Given the description of an element on the screen output the (x, y) to click on. 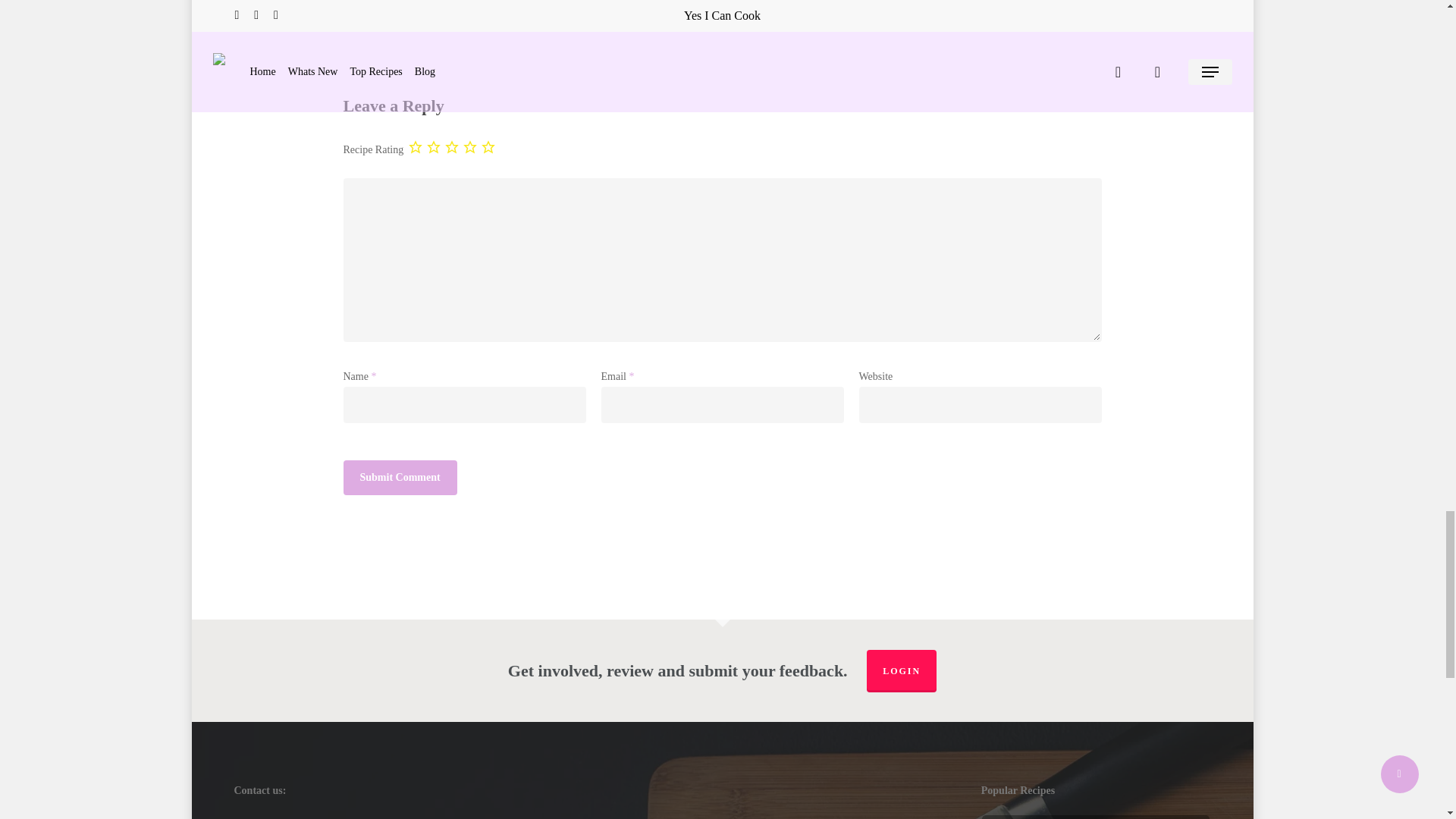
Submit Comment (399, 477)
LOGIN (901, 671)
Submit Comment (399, 477)
